Given the description of an element on the screen output the (x, y) to click on. 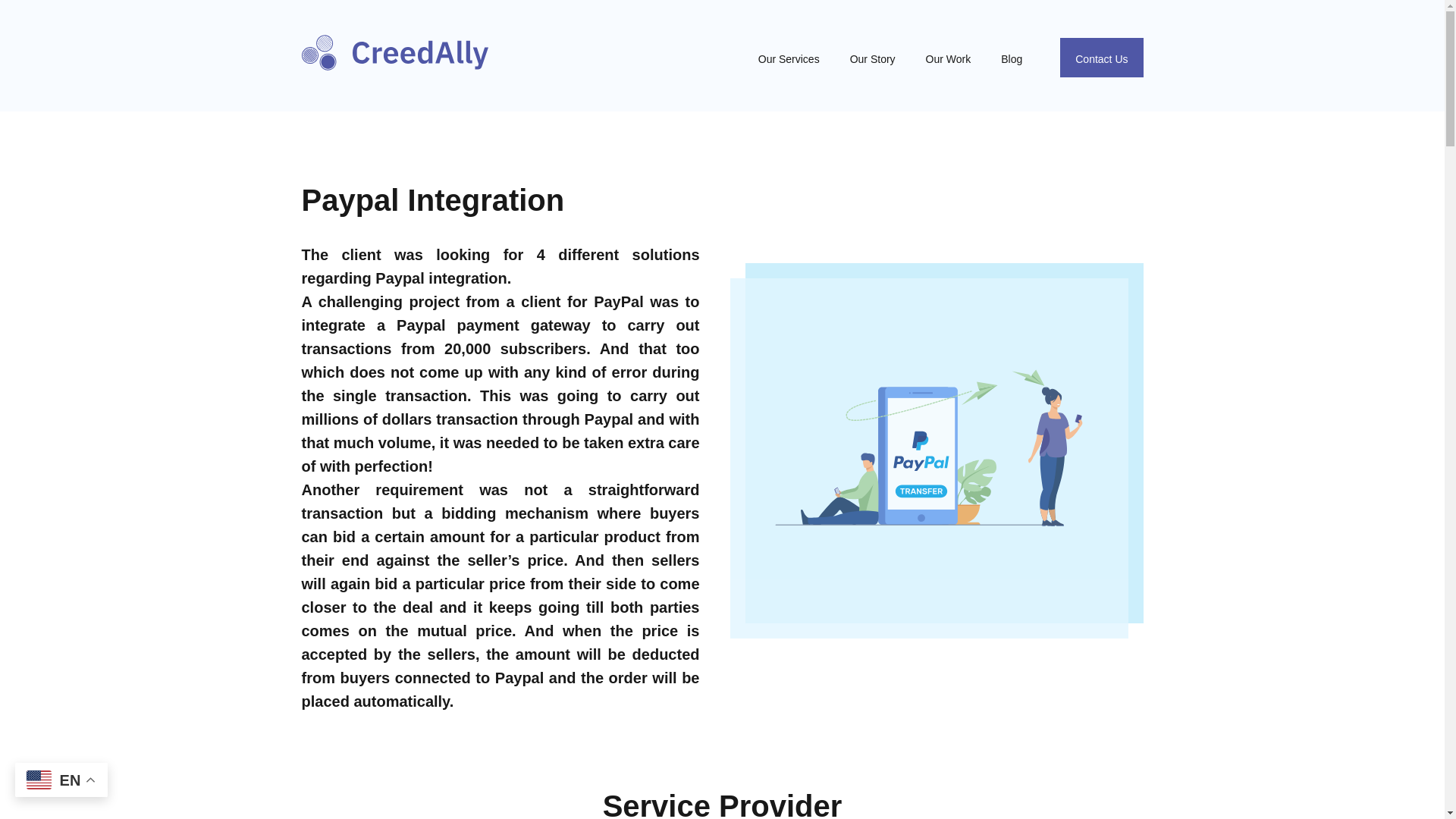
Our Services (788, 58)
Contact Us (1100, 56)
Our Work (949, 58)
Blog (1010, 58)
Our Story (872, 58)
